Given the description of an element on the screen output the (x, y) to click on. 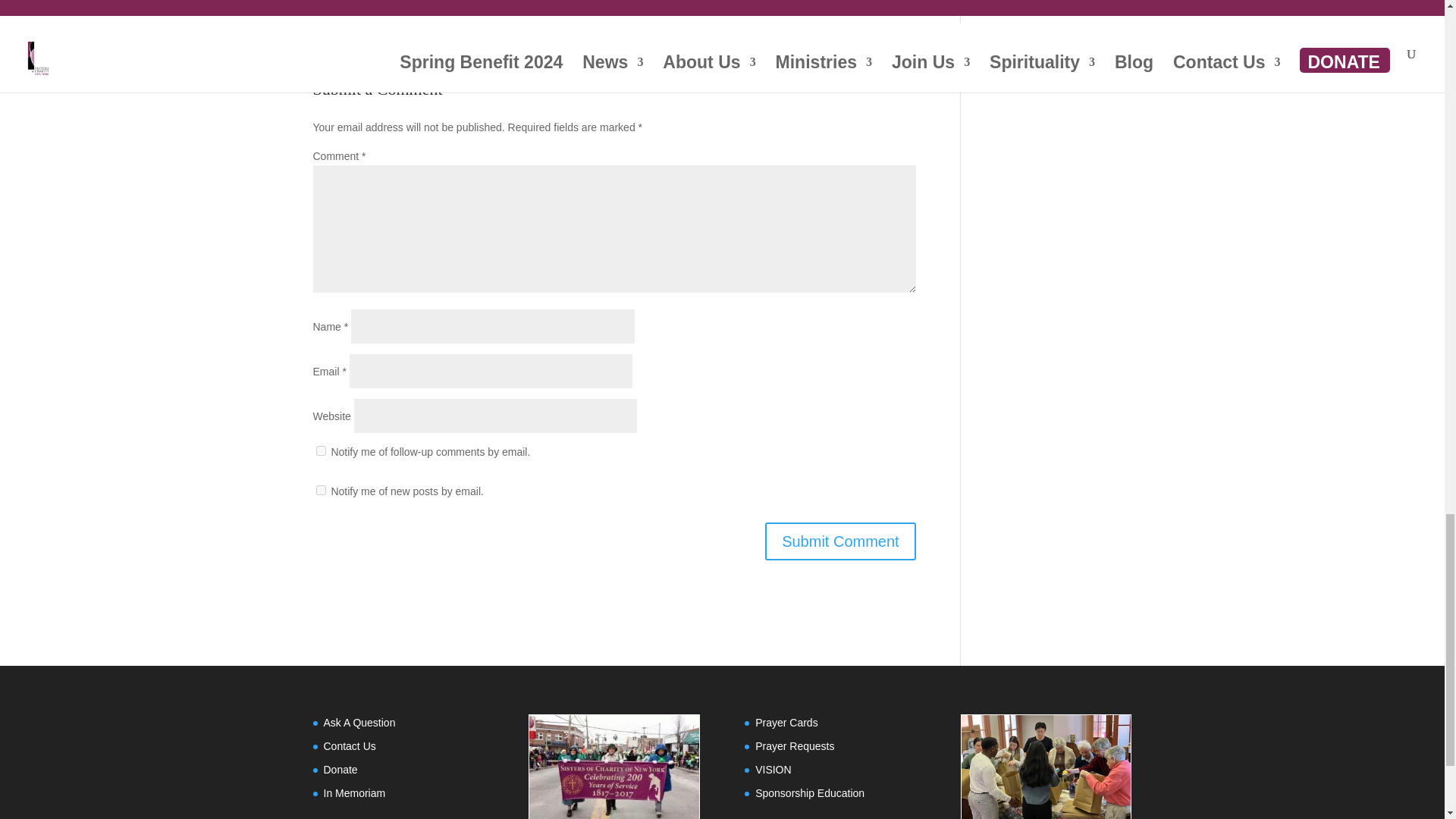
Submit Comment (840, 541)
Read Our VISION (772, 769)
subscribe (319, 450)
subscribe (319, 490)
